Given the description of an element on the screen output the (x, y) to click on. 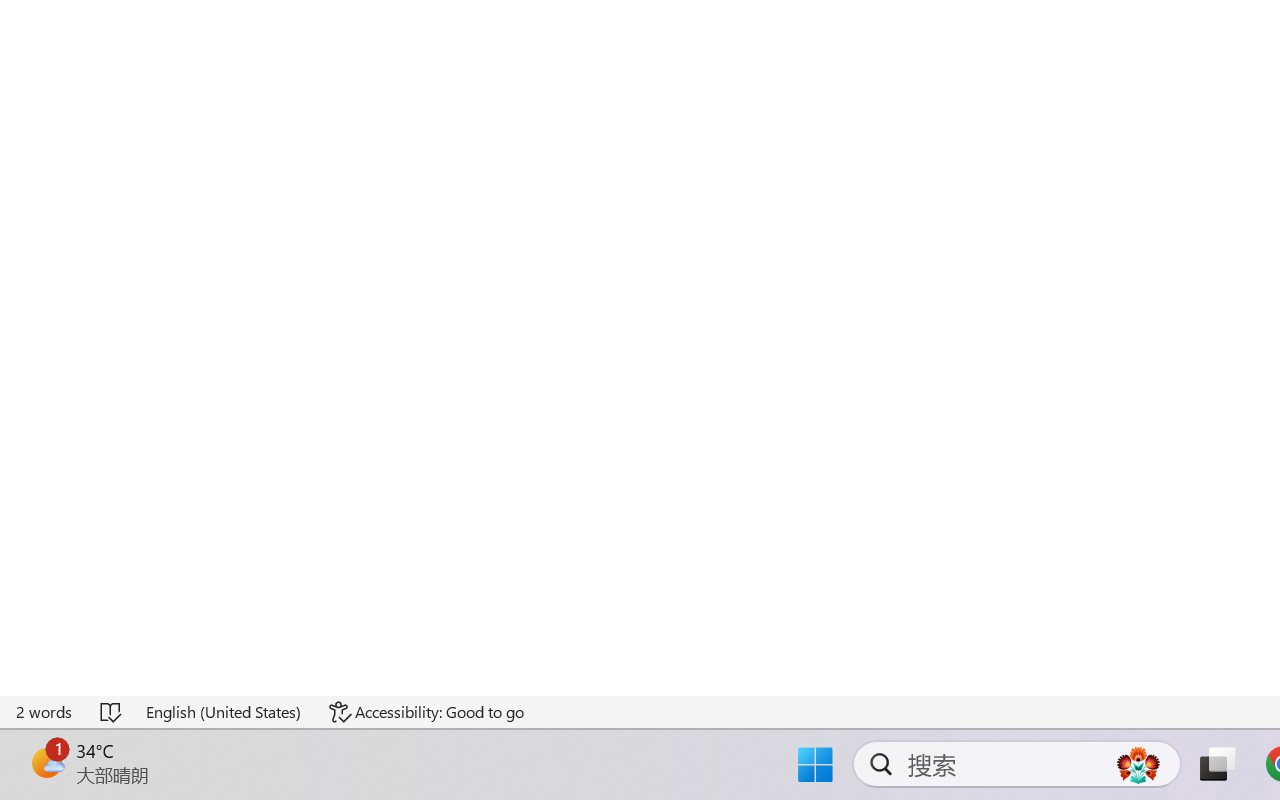
AutomationID: DynamicSearchBoxGleamImage (1138, 764)
Spelling and Grammar Check No Errors (112, 712)
Accessibility Checker Accessibility: Good to go (426, 712)
Word Count 2 words (45, 712)
AutomationID: BadgeAnchorLargeTicker (46, 762)
Language English (United States) (224, 712)
